Given the description of an element on the screen output the (x, y) to click on. 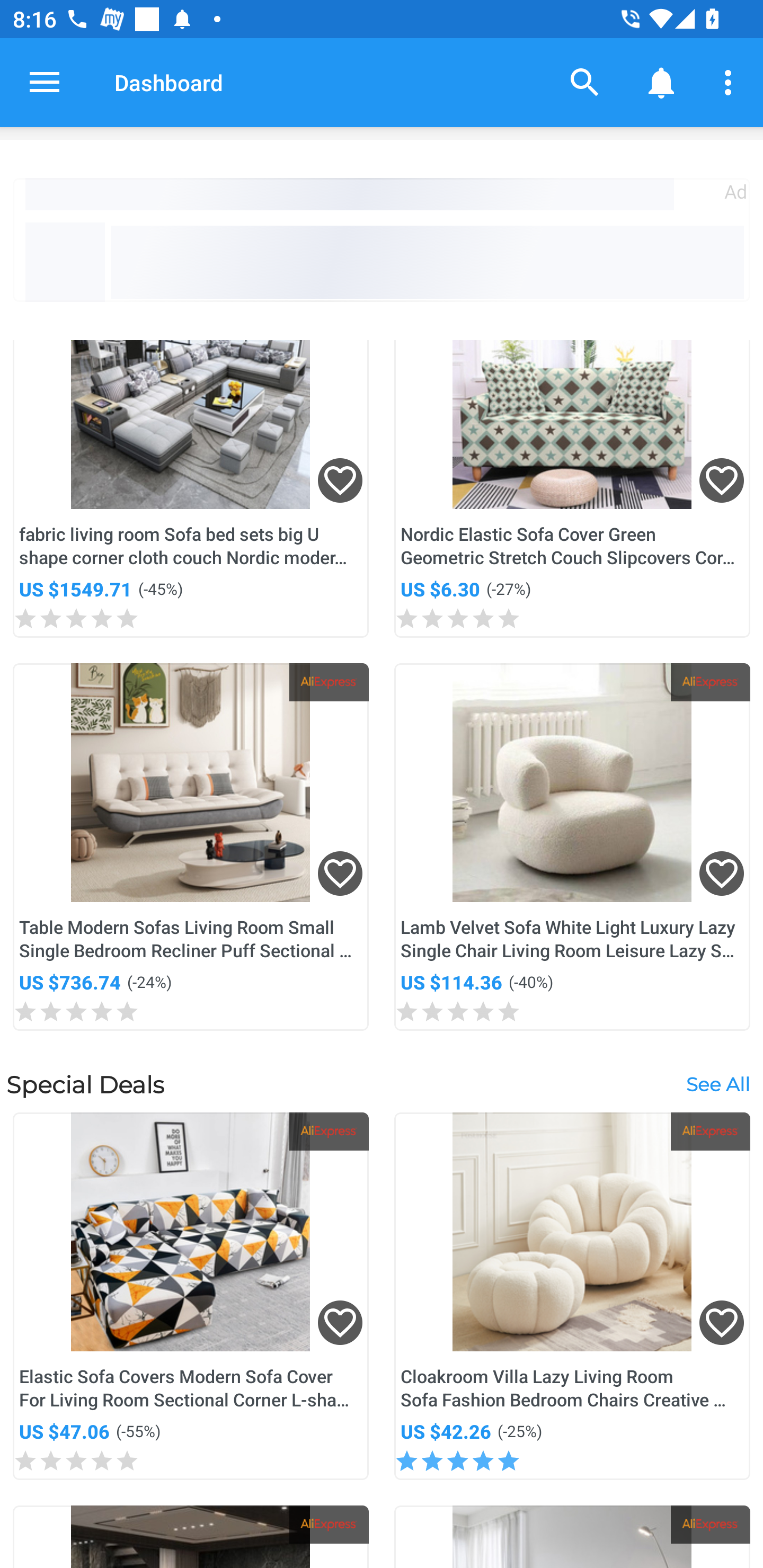
Open navigation drawer (44, 82)
Search (585, 81)
More options (731, 81)
See All (717, 1083)
